Given the description of an element on the screen output the (x, y) to click on. 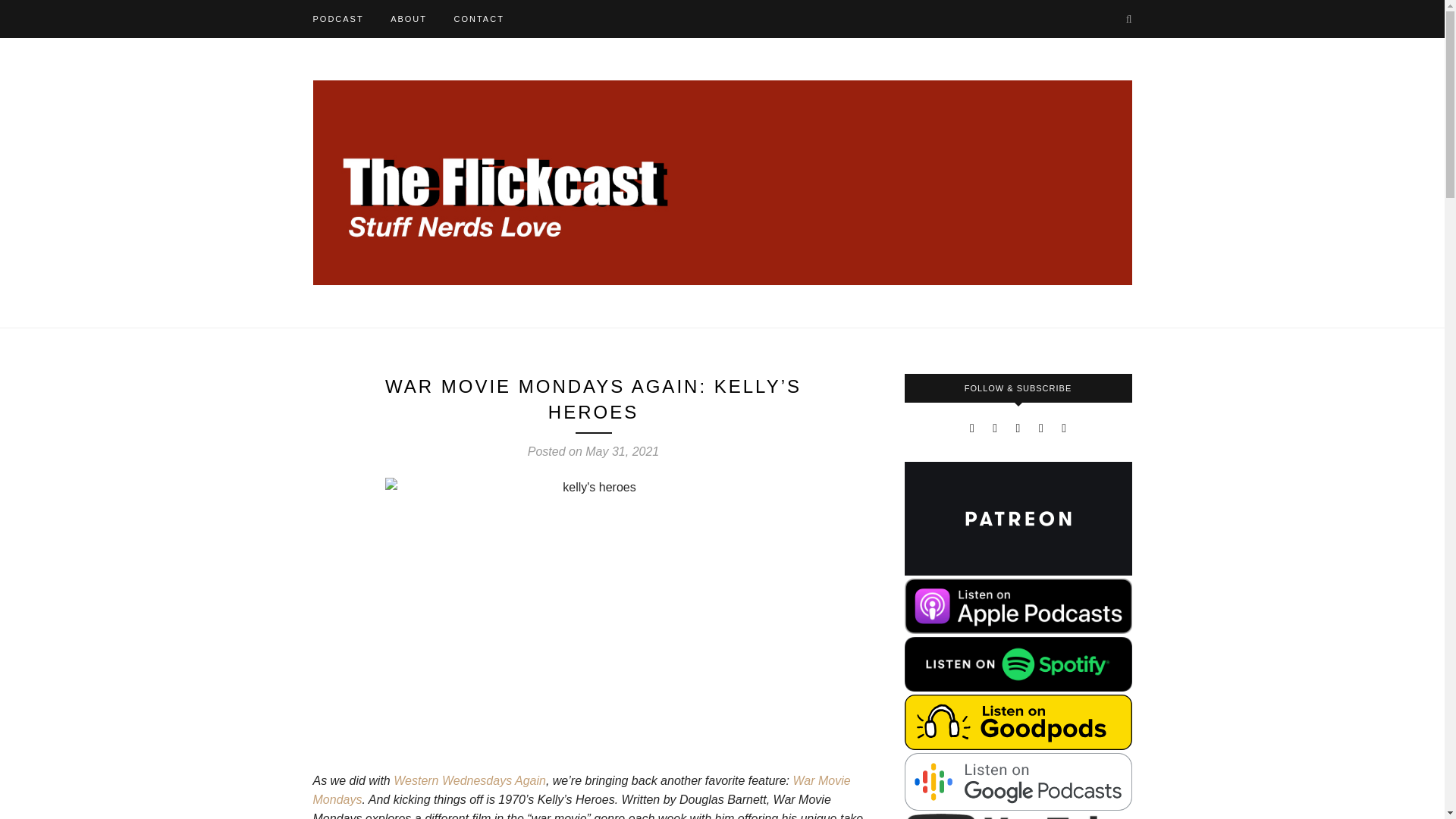
Western Wednesdays Again (469, 780)
ABOUT (408, 18)
PODCAST (337, 18)
War Movie Mondays (581, 789)
CONTACT (477, 18)
